Given the description of an element on the screen output the (x, y) to click on. 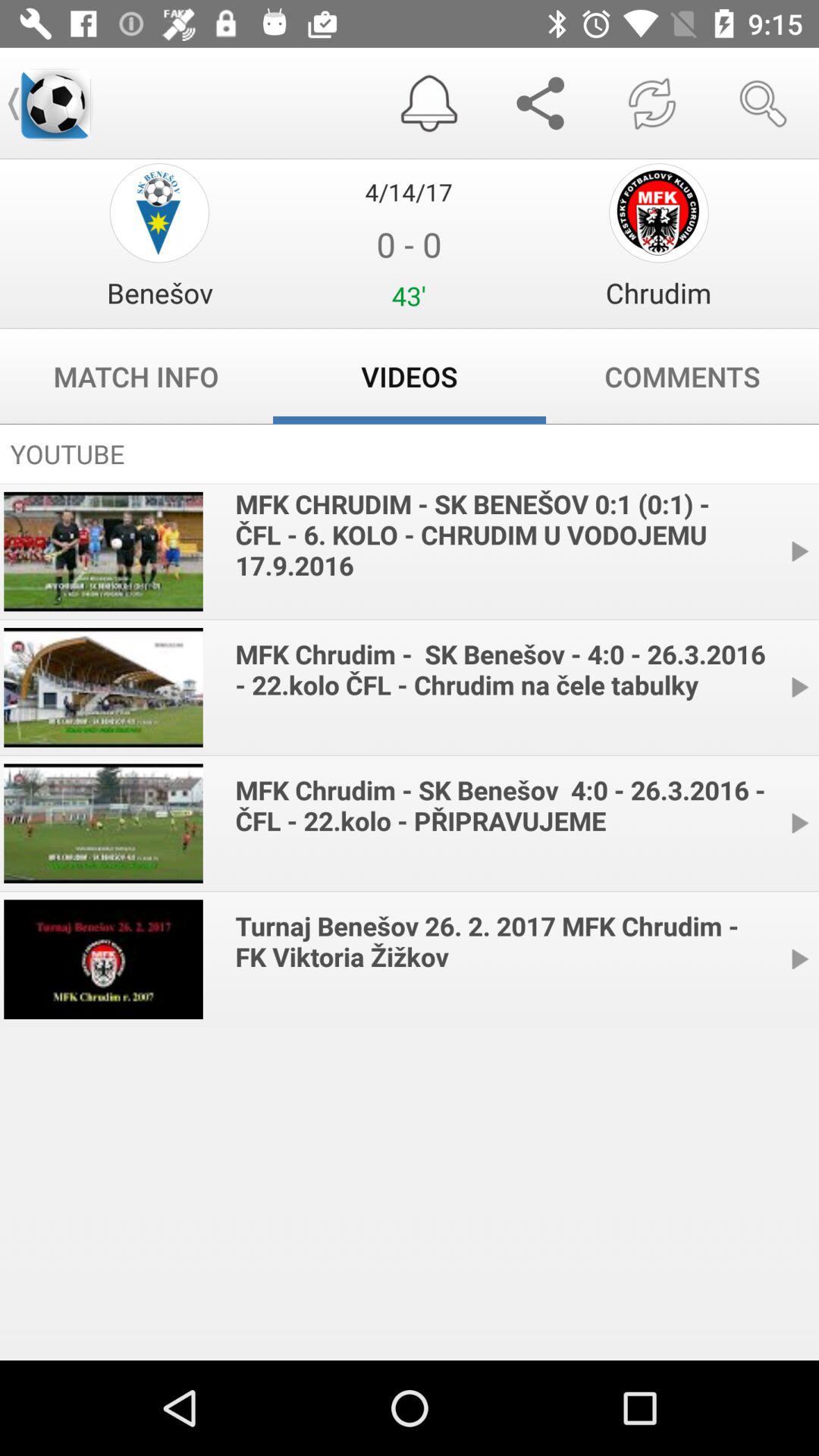
game gift (159, 212)
